Given the description of an element on the screen output the (x, y) to click on. 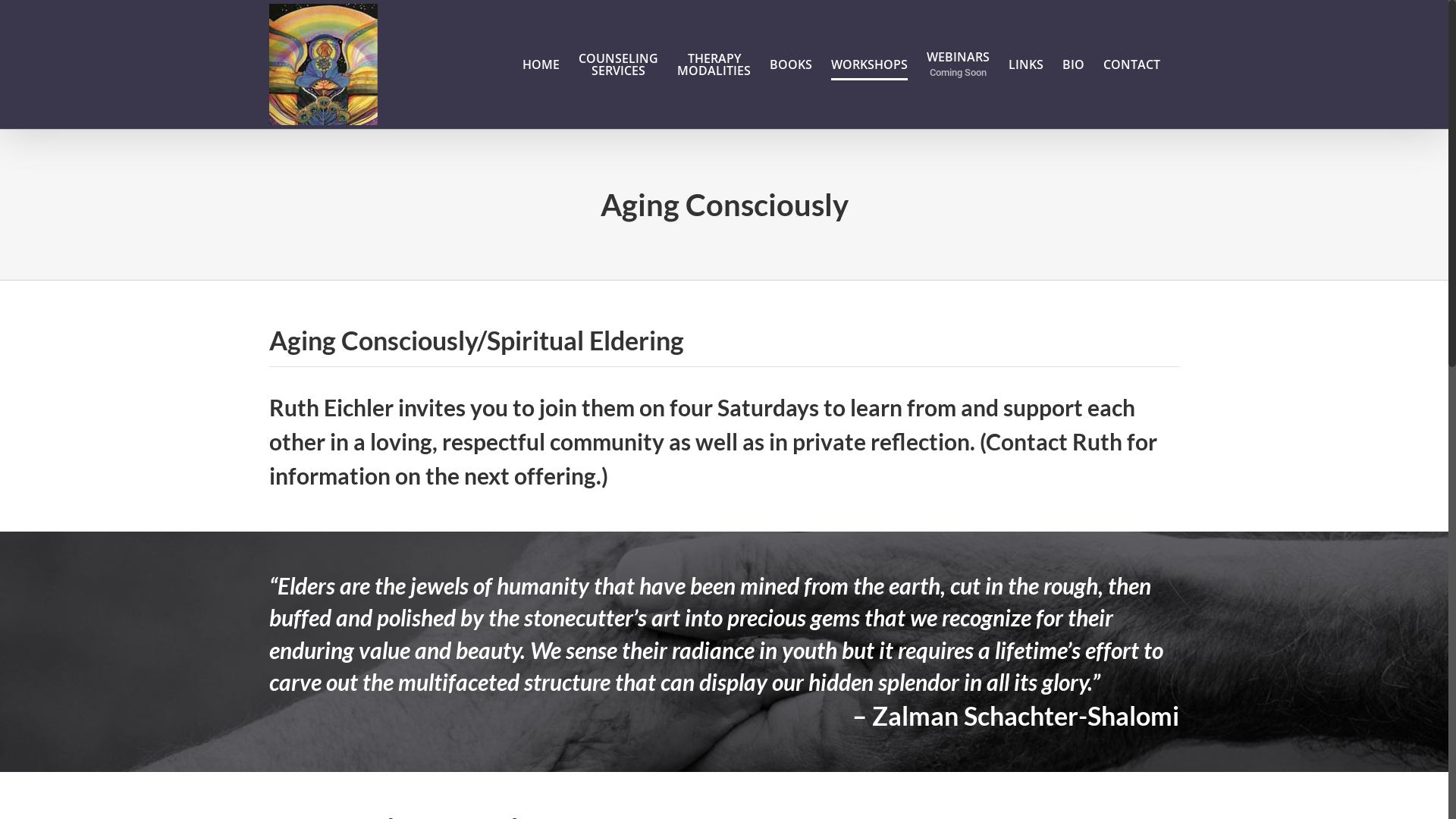
CONTACT Element type: text (1131, 64)
THERAPY
MODALITIES Element type: text (713, 64)
HOME Element type: text (540, 64)
BIO Element type: text (1073, 64)
BOOKS Element type: text (790, 64)
LINKS Element type: text (1025, 64)
WEBINARS
Coming Soon Element type: text (957, 64)
COUNSELING
SERVICES Element type: text (618, 64)
WORKSHOPS Element type: text (869, 64)
